Given the description of an element on the screen output the (x, y) to click on. 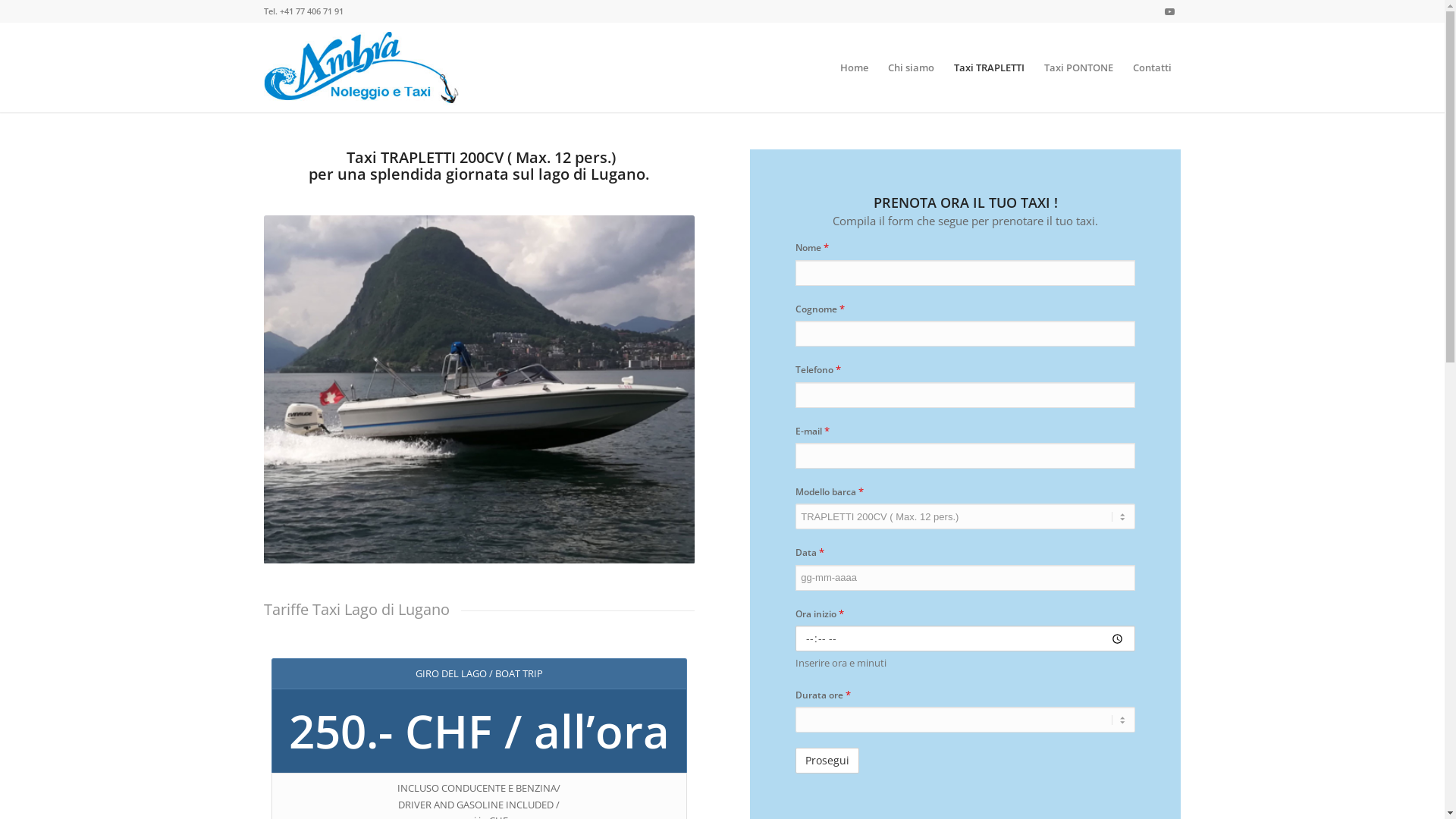
Taxi TRAPLETTI Element type: text (988, 67)
Youtube Element type: hover (1169, 11)
Chi siamo Element type: text (911, 67)
taxi-lago-di-lugano-1 Element type: hover (479, 389)
Contatti Element type: text (1151, 67)
Home Element type: text (853, 67)
Taxi PONTONE Element type: text (1078, 67)
